Given the description of an element on the screen output the (x, y) to click on. 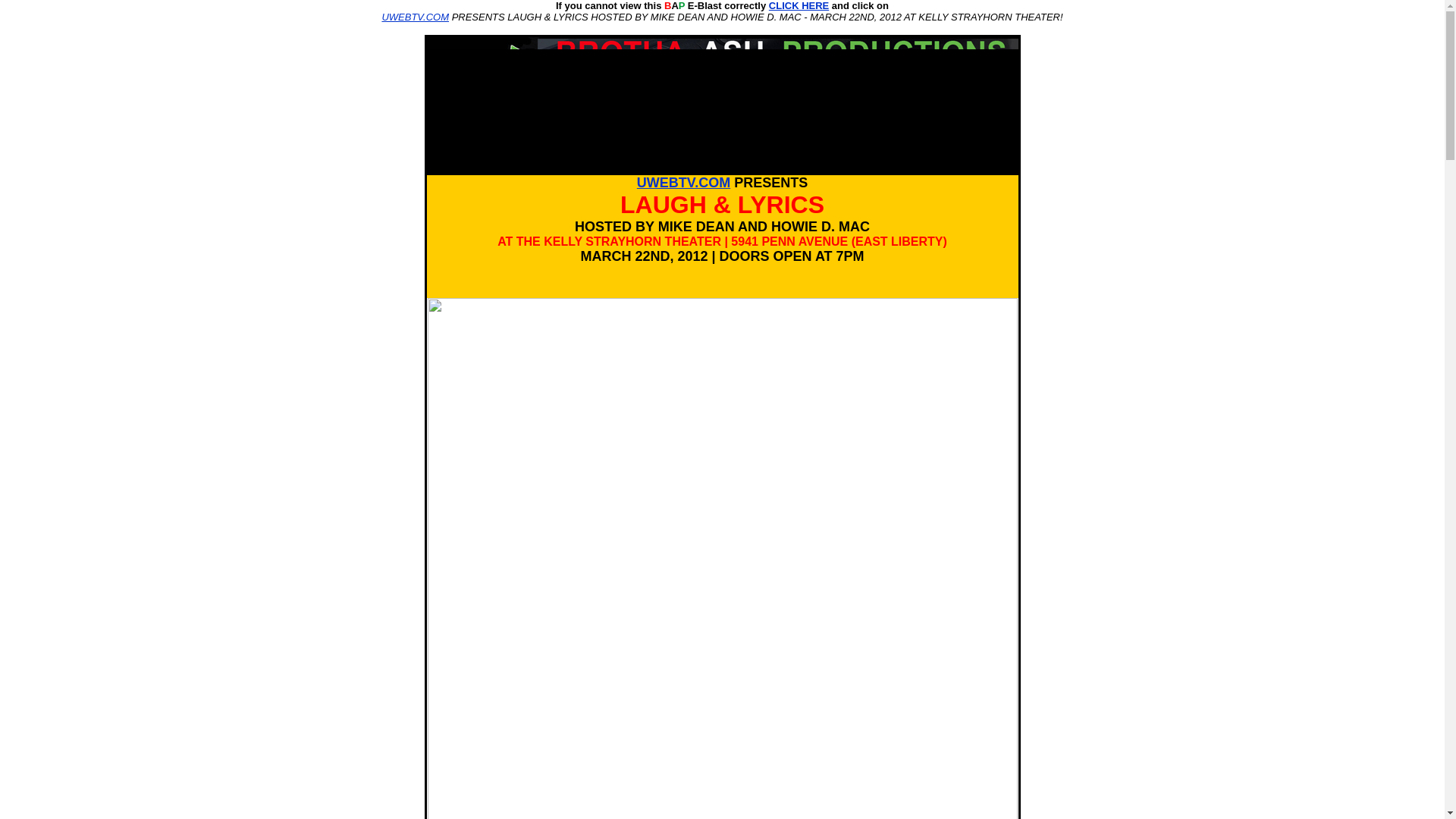
UWEBTV.COM (414, 16)
UWEBTV.COM (683, 182)
CLICK HERE (798, 5)
